Given the description of an element on the screen output the (x, y) to click on. 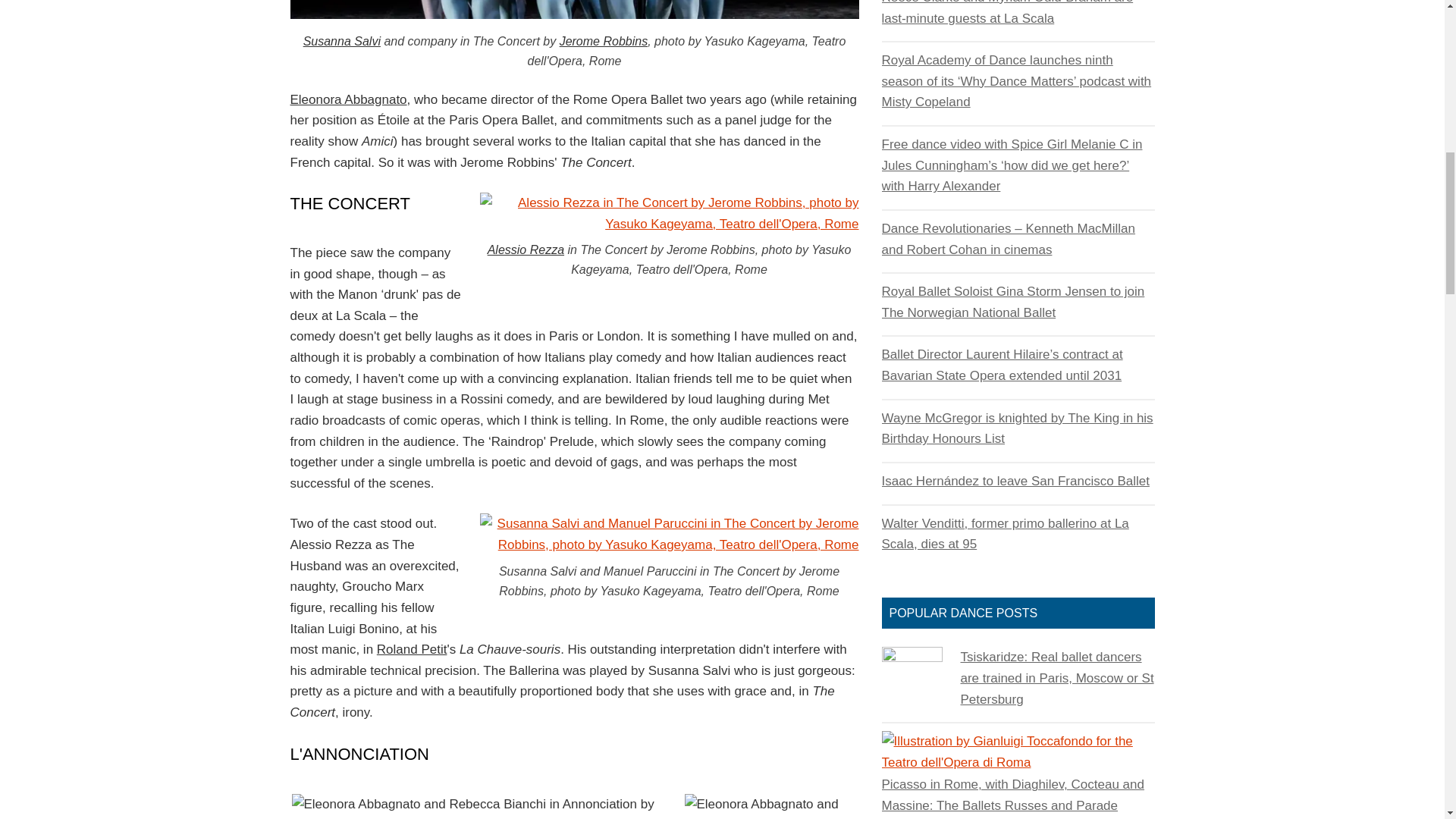
Susanna Salvi (341, 41)
Posts tagged with Alessio Rezza (525, 249)
Posts tagged with Susanna Salvi (341, 41)
Eleonora Abbagnato (347, 99)
Alessio Rezza (525, 249)
Posts tagged with Eleonora Abbagnato (347, 99)
Posts tagged with Jerome Robbins (603, 41)
Jerome Robbins (603, 41)
Posts tagged with Roland Petit (411, 649)
Roland Petit (411, 649)
